Given the description of an element on the screen output the (x, y) to click on. 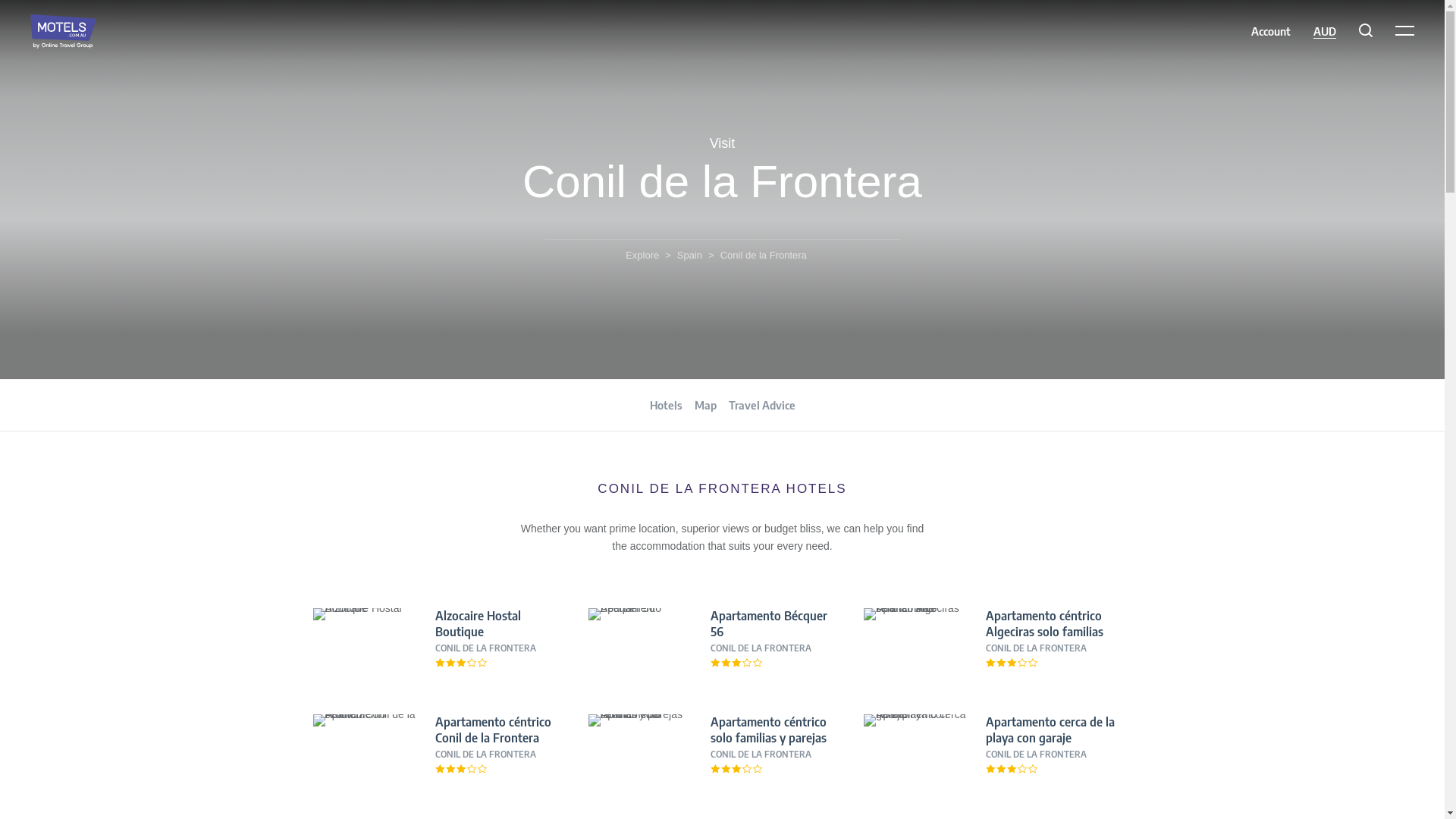
Alzocaire Hostal Boutique
CONIL DE LA FRONTERA Element type: text (446, 646)
Map Element type: text (705, 405)
Account Element type: text (1270, 30)
Spain Element type: text (689, 254)
Hotels Element type: text (665, 405)
AUD Element type: text (1324, 31)
Explore Element type: text (641, 254)
Travel Advice Element type: text (761, 405)
